Given the description of an element on the screen output the (x, y) to click on. 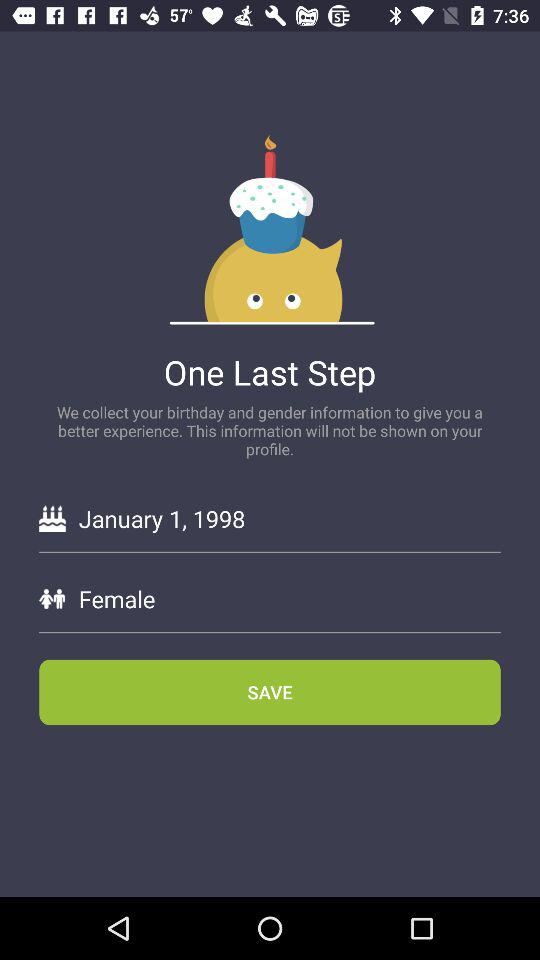
scroll until the january 1, 1998 (289, 518)
